Given the description of an element on the screen output the (x, y) to click on. 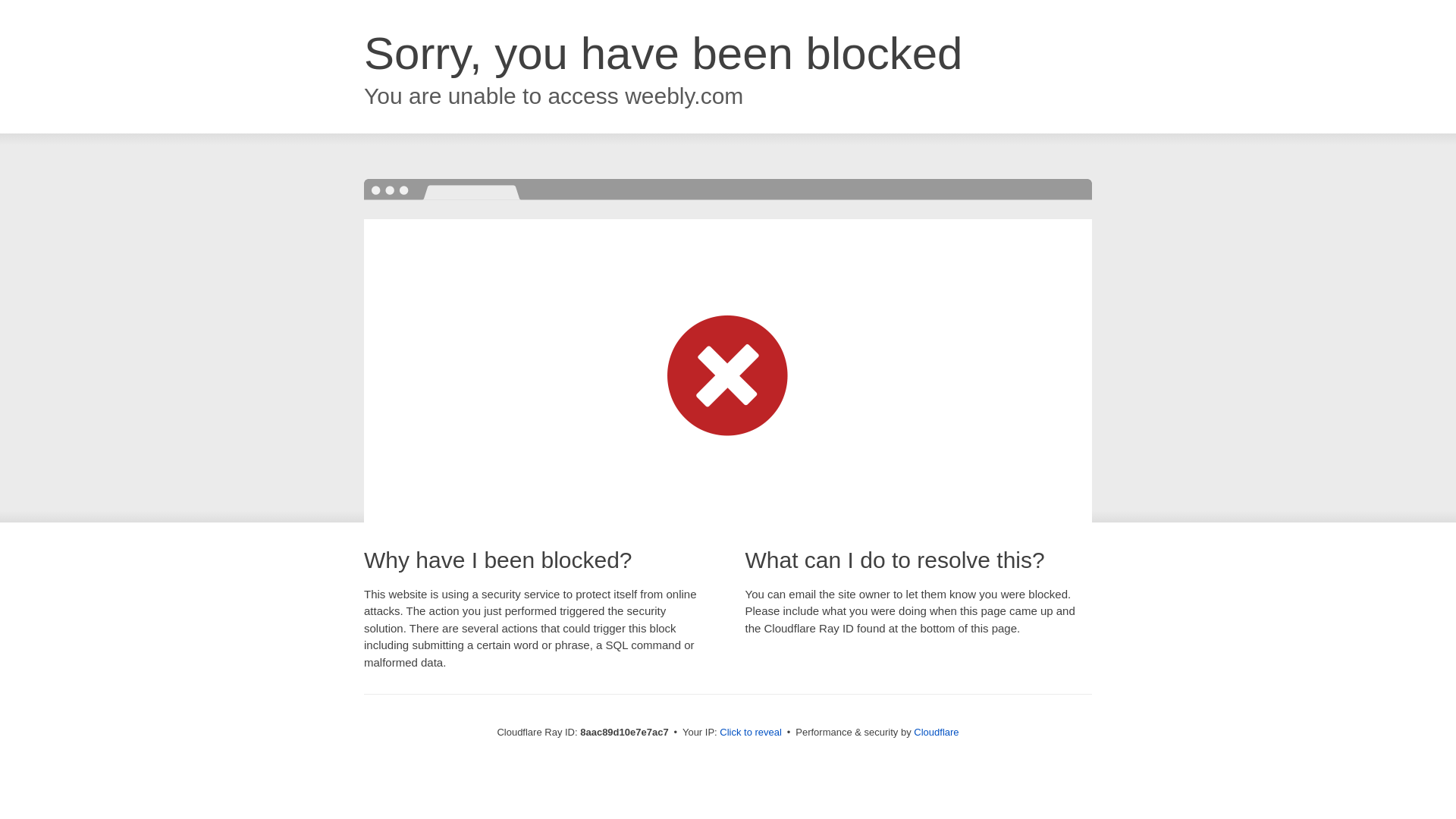
Click to reveal (750, 732)
Cloudflare (936, 731)
